Given the description of an element on the screen output the (x, y) to click on. 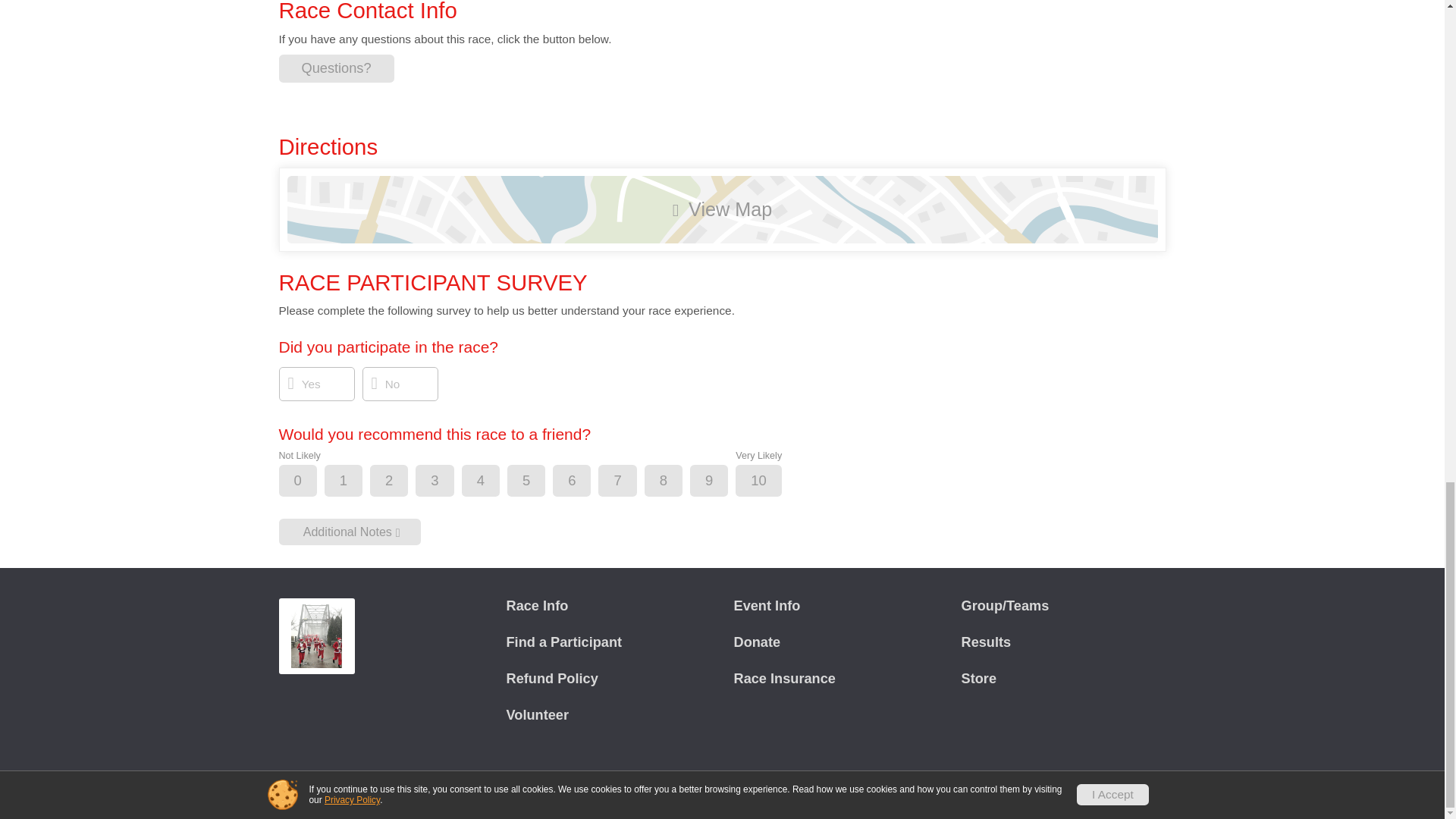
6 (584, 481)
4 (493, 481)
10 (770, 481)
1 (355, 481)
9 (721, 481)
3 (447, 481)
2 (401, 481)
0 (310, 481)
5 (539, 481)
8 (675, 481)
7 (629, 481)
